Given the description of an element on the screen output the (x, y) to click on. 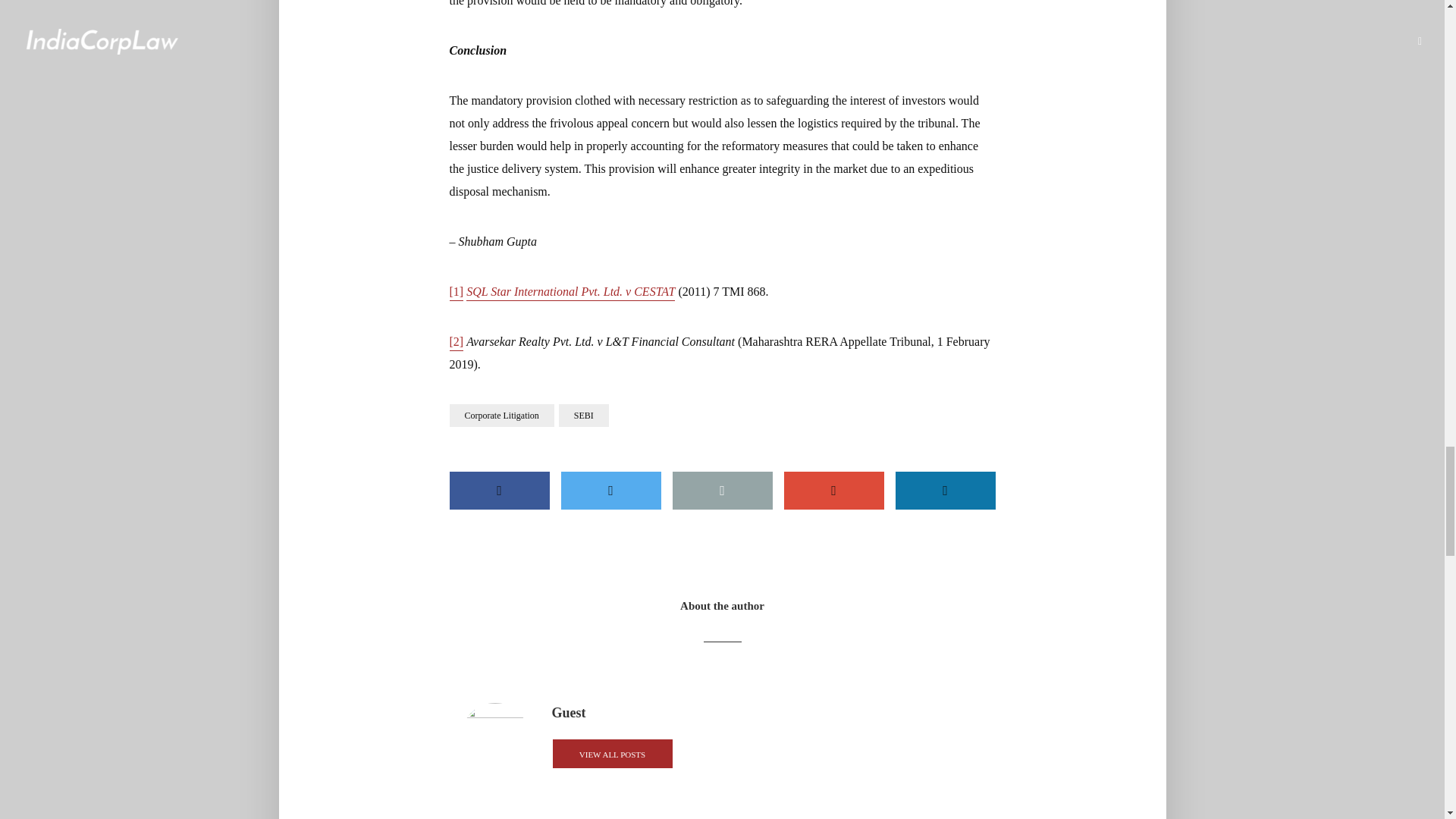
VIEW ALL POSTS (611, 753)
SEBI (583, 415)
Corporate Litigation (500, 415)
SQL Star International Pvt. Ltd. v CESTAT (570, 293)
